Given the description of an element on the screen output the (x, y) to click on. 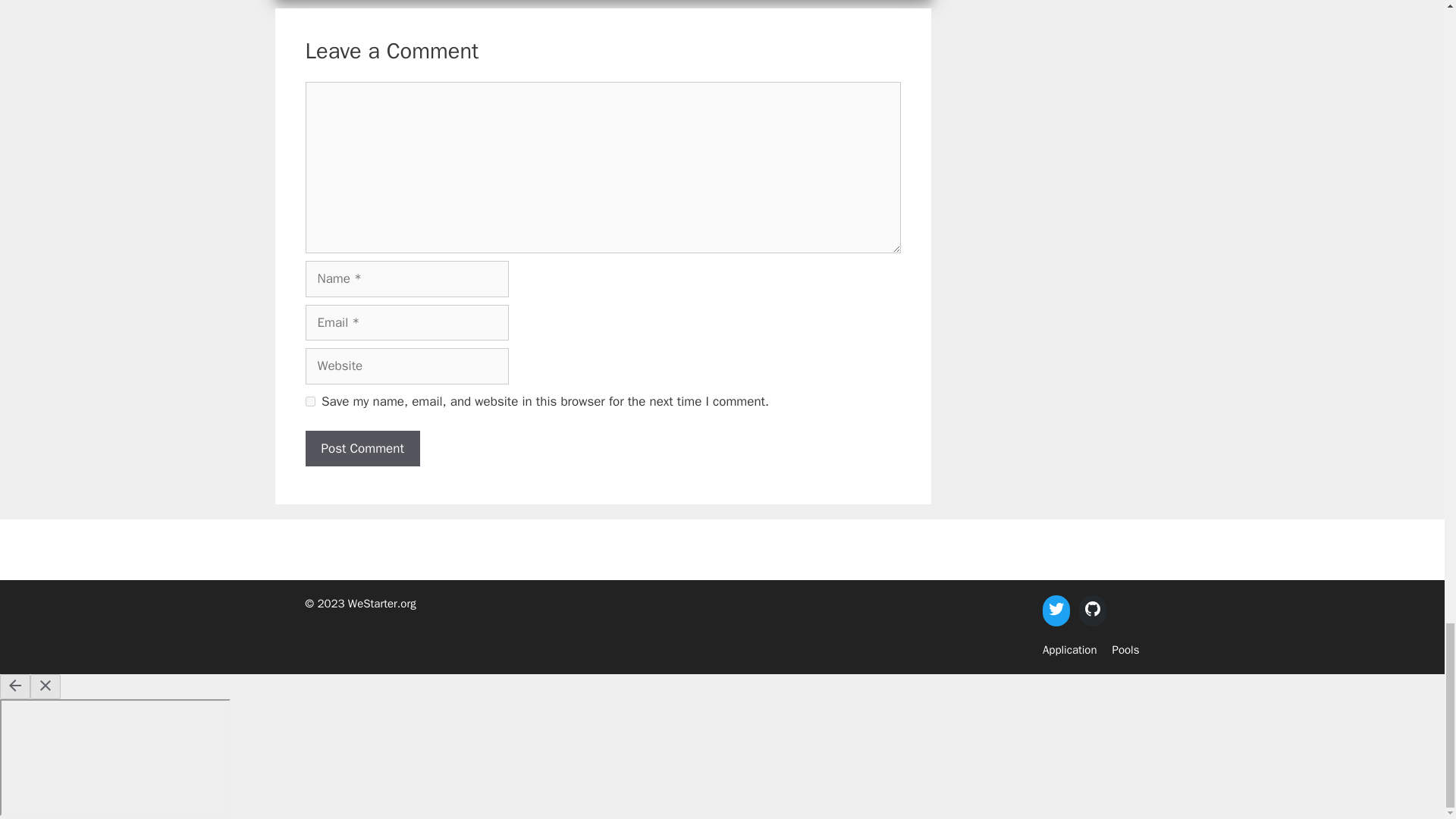
Twitter (1056, 608)
Post Comment (361, 448)
Post Comment (361, 448)
yes (309, 401)
GitHub (1092, 608)
Application (1069, 649)
